Given the description of an element on the screen output the (x, y) to click on. 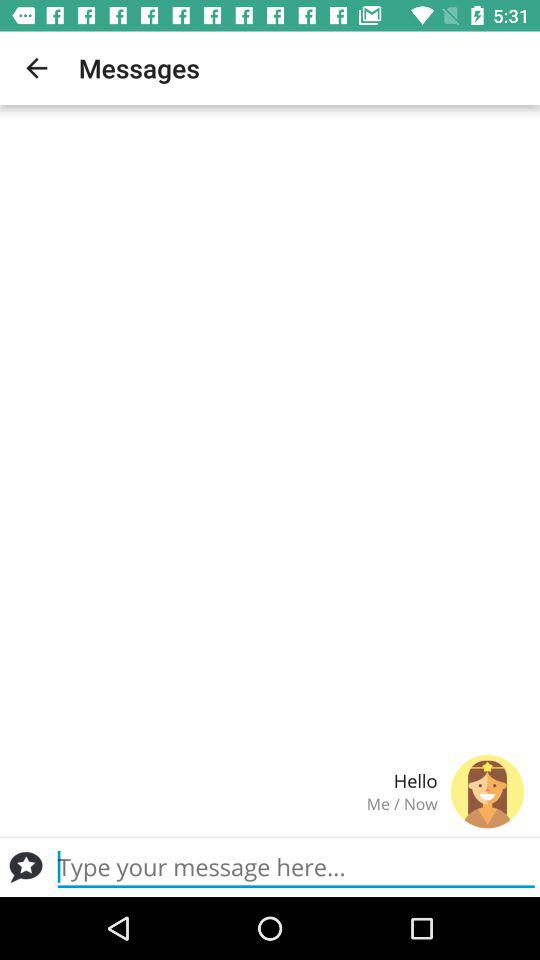
open the item above hello item (36, 68)
